Given the description of an element on the screen output the (x, y) to click on. 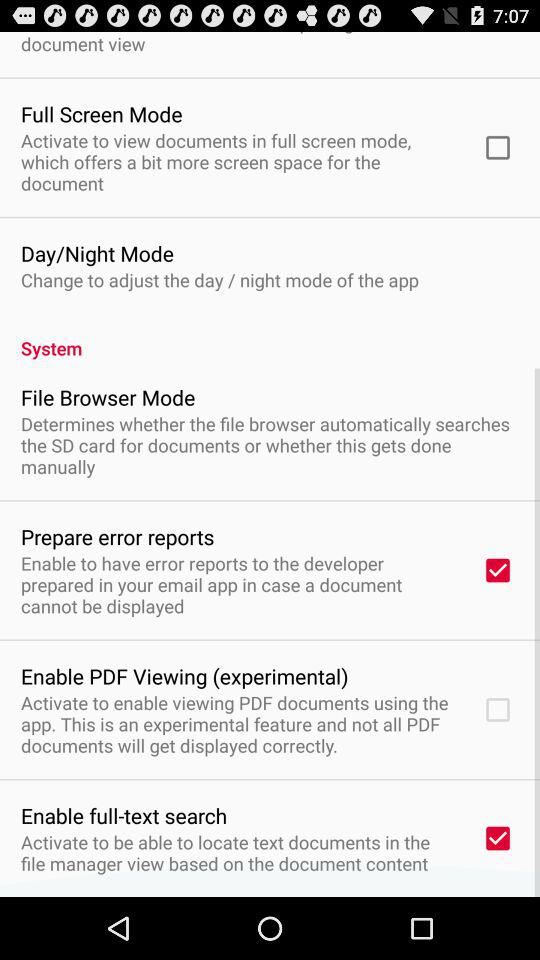
jump to the enable full text (124, 815)
